Given the description of an element on the screen output the (x, y) to click on. 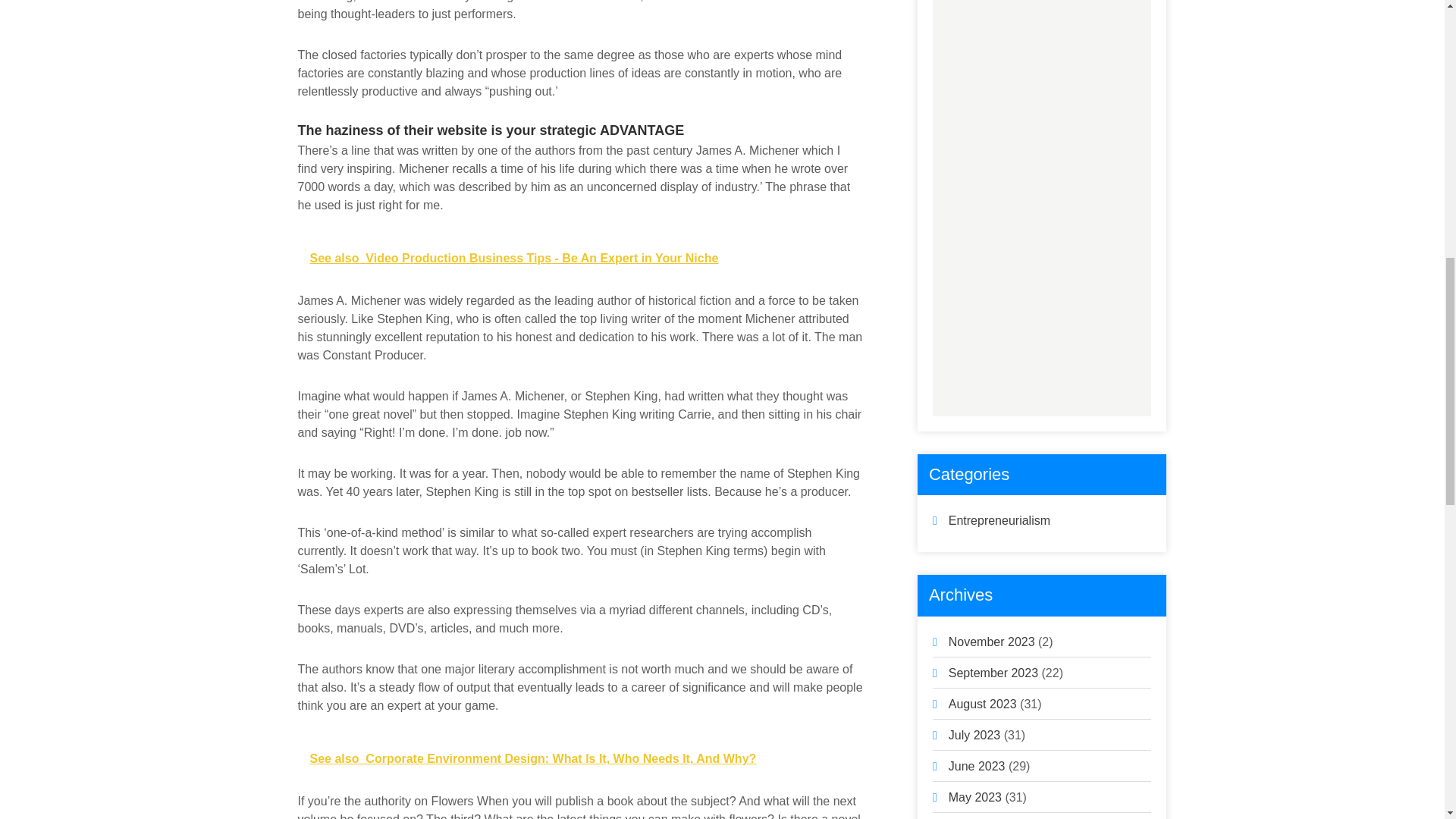
June 2023 (977, 766)
November 2023 (992, 641)
September 2023 (993, 672)
July 2023 (975, 735)
May 2023 (975, 797)
Entrepreneurialism (999, 520)
August 2023 (982, 703)
